Given the description of an element on the screen output the (x, y) to click on. 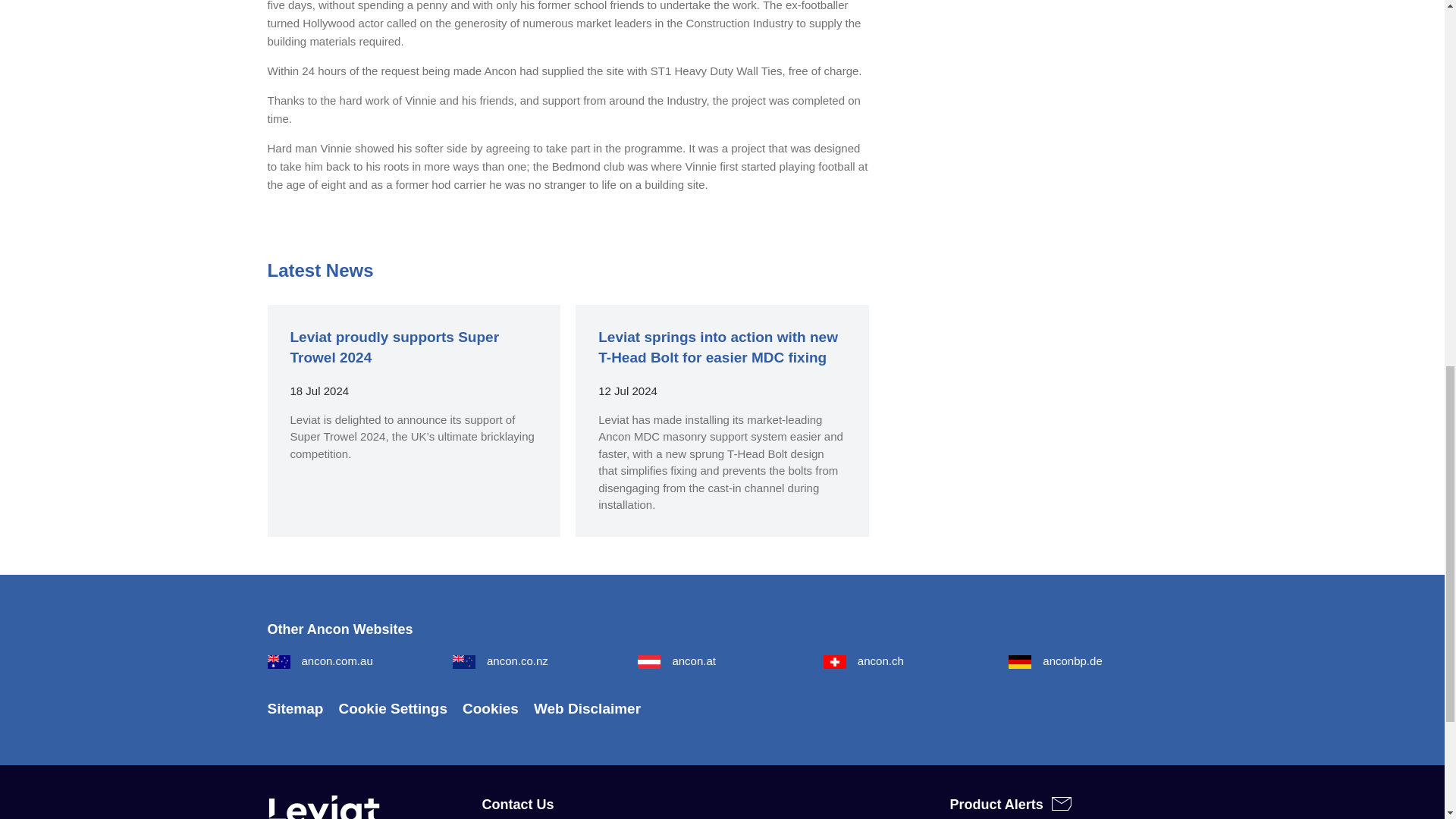
Latest News (319, 270)
anconbp.de (1055, 660)
Sitemap (294, 708)
ancon.com.au (319, 660)
ancon.at (676, 660)
Cookie Settings (391, 708)
ancon.ch (864, 660)
Web Disclaimer (587, 708)
Cookies (490, 708)
